Given the description of an element on the screen output the (x, y) to click on. 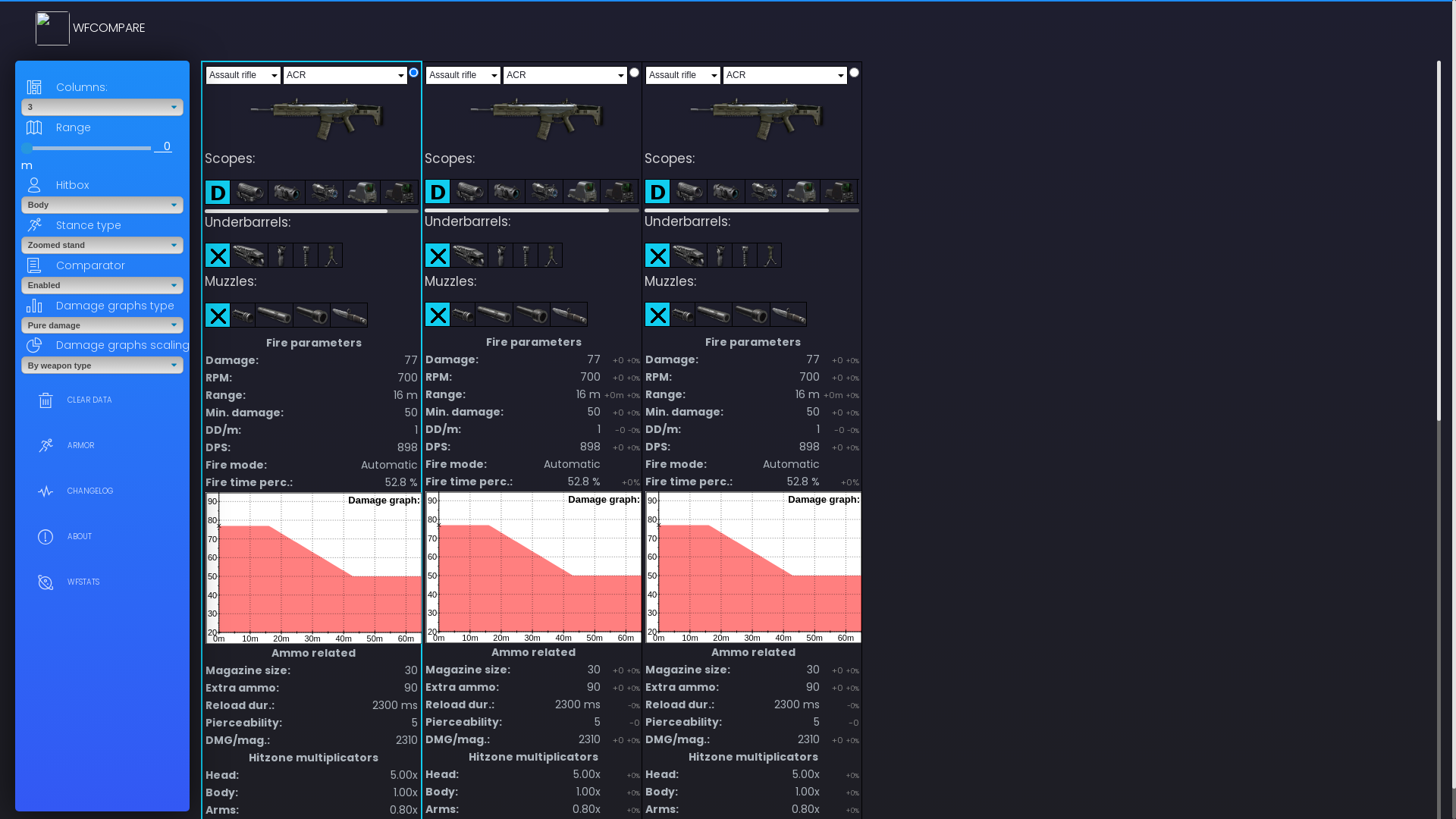
Click to assign comparison central weapon. Element type: hover (634, 71)
ABOUT Element type: text (102, 536)
ARMOR Element type: text (102, 445)
WFSTATS Element type: text (102, 582)
WFCOMPARE Element type: text (90, 28)
Click to assign comparison central weapon. Element type: hover (854, 71)
Click to assign comparison central weapon. Element type: hover (413, 72)
CHANGELOG Element type: text (102, 491)
CLEAR DATA Element type: text (102, 400)
